Given the description of an element on the screen output the (x, y) to click on. 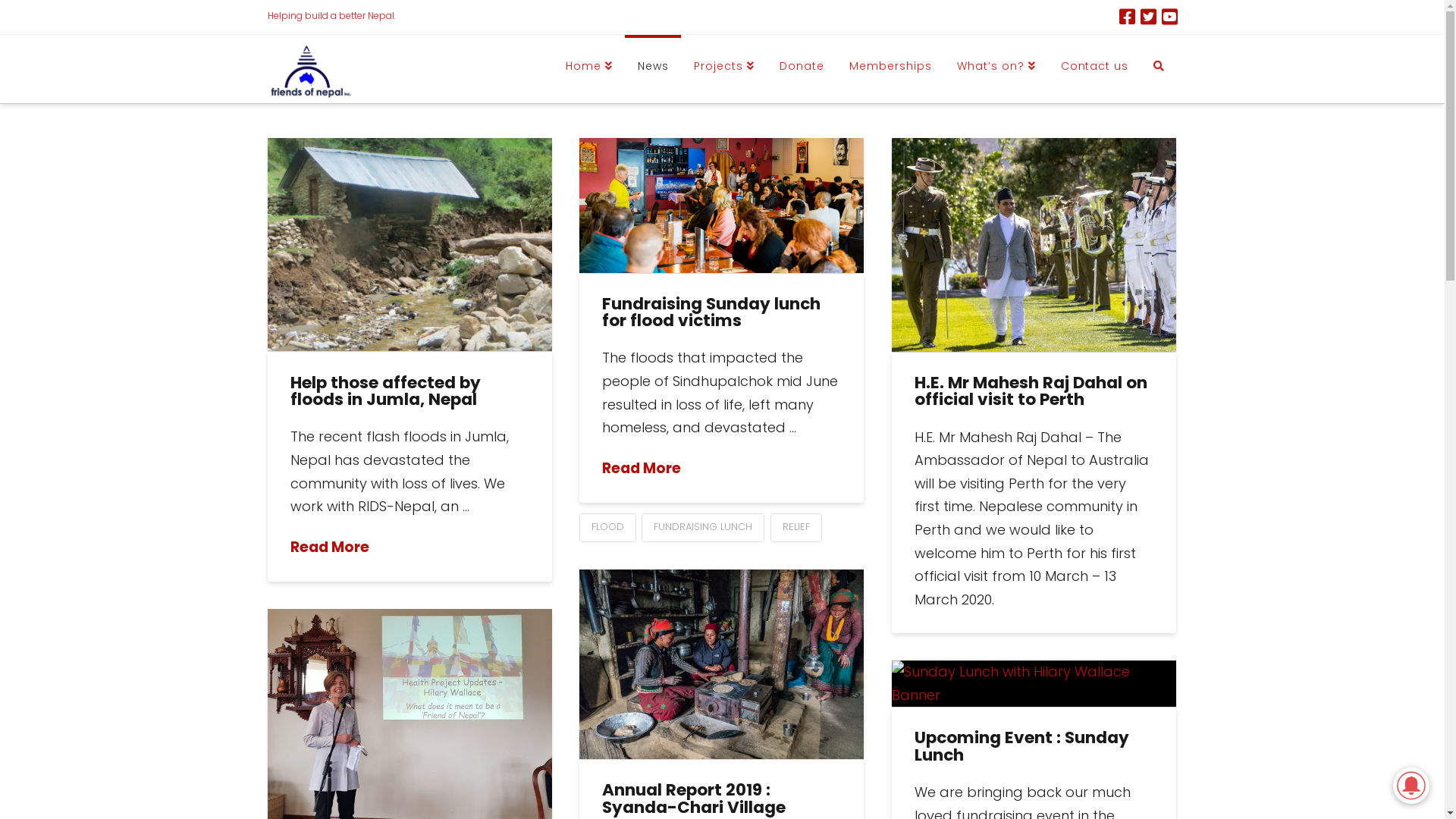
Permalink to: "Fundraising Sunday lunch for flood victims" Element type: hover (721, 205)
Read More Element type: text (641, 468)
Permalink to: "Annual Report 2019 : Syanda-Chari Village" Element type: hover (721, 664)
FUNDRAISING LUNCH Element type: text (702, 527)
Donate Element type: text (801, 68)
Projects Element type: text (723, 68)
YouTube Element type: hover (1169, 16)
Permalink to: "Upcoming Event : Sunday Lunch" Element type: hover (1033, 683)
RELIEF Element type: text (796, 527)
Memberships Element type: text (890, 68)
Home Element type: text (588, 68)
Read More Element type: text (329, 547)
H.E. Mr Mahesh Raj Dahal on official visit to Perth Element type: text (1030, 390)
Upcoming Event : Sunday Lunch Element type: text (1021, 745)
Fundraising Sunday lunch for flood victims Element type: text (711, 311)
Facebook Element type: hover (1127, 16)
Twitter Element type: hover (1148, 16)
Contact us Element type: text (1094, 68)
FLOOD Element type: text (607, 527)
News Element type: text (652, 68)
Help those affected by floods in Jumla, Nepal Element type: text (385, 390)
